Given the description of an element on the screen output the (x, y) to click on. 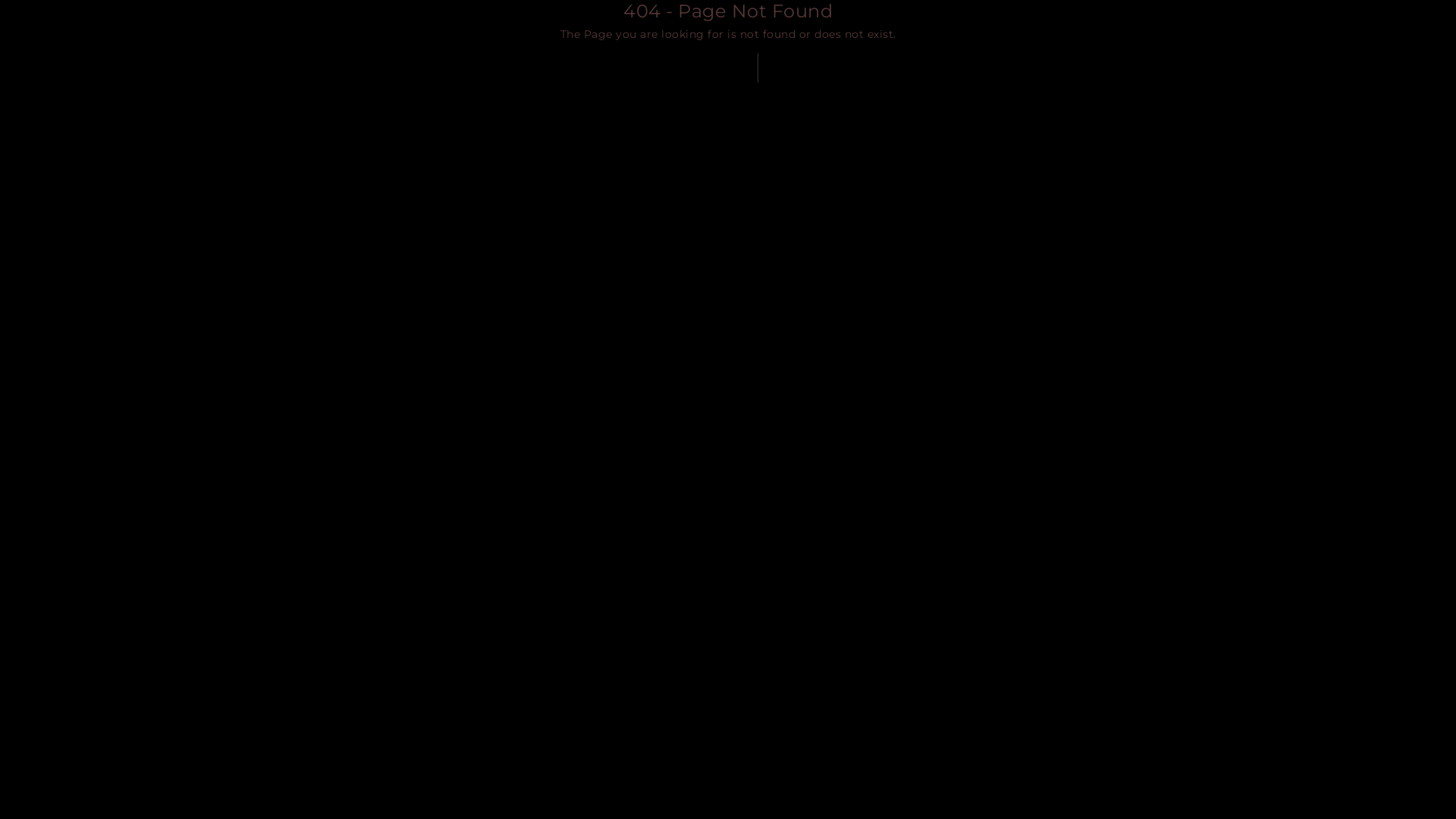
BACK TO HOME Element type: text (727, 67)
